Given the description of an element on the screen output the (x, y) to click on. 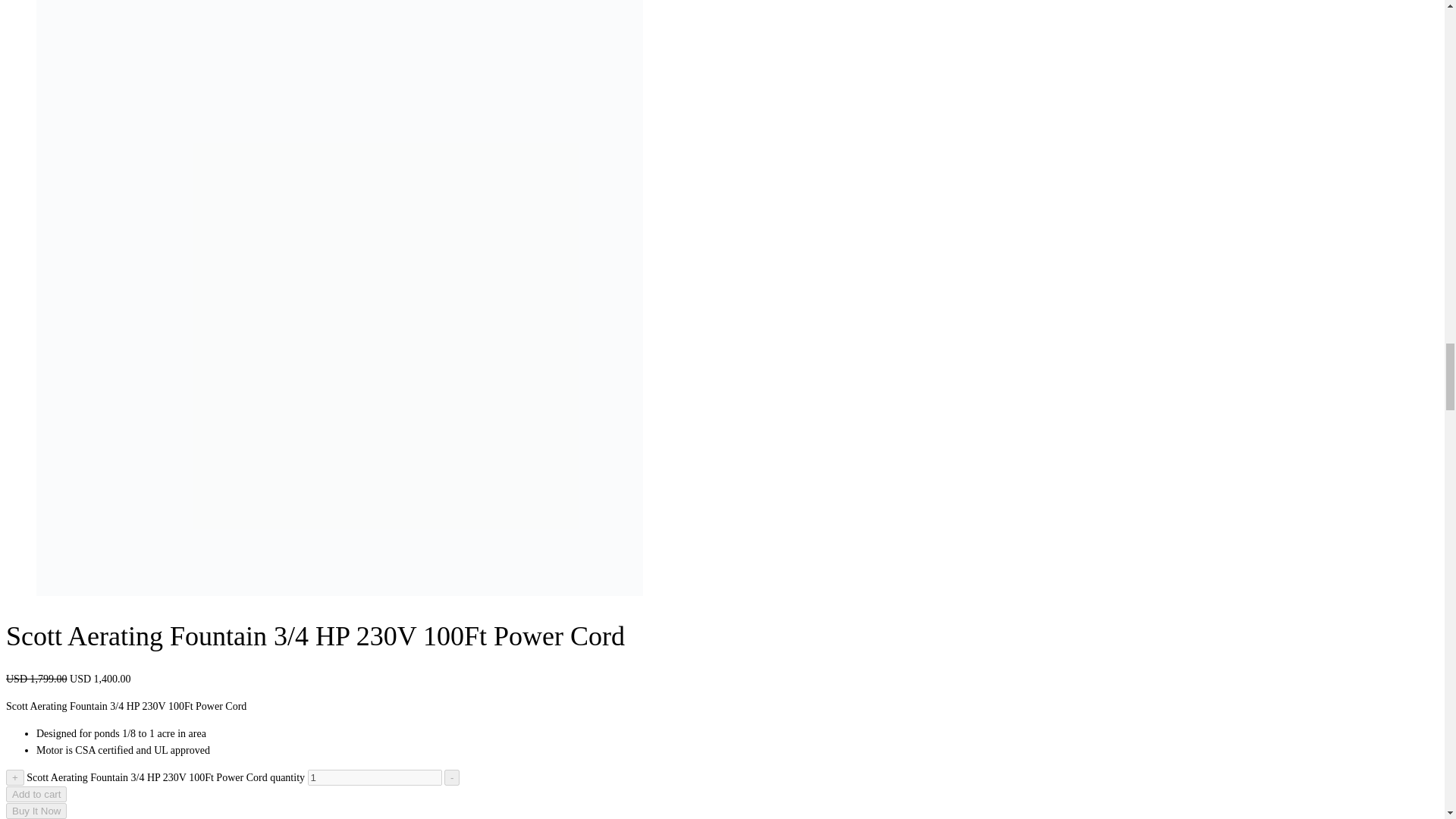
1 (374, 777)
